Given the description of an element on the screen output the (x, y) to click on. 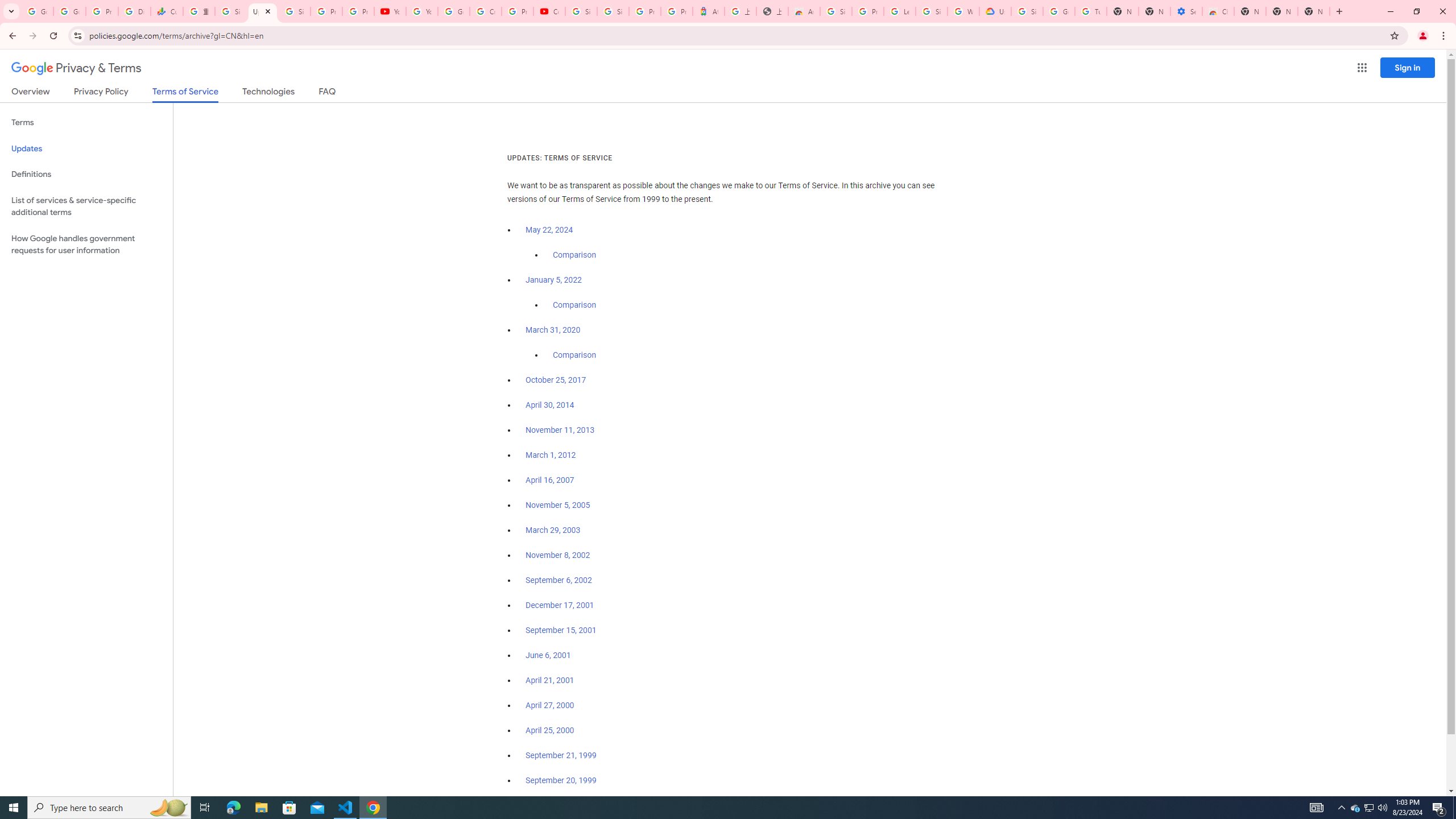
December 17, 2001 (559, 605)
Atour Hotel - Google hotels (708, 11)
How Google handles government requests for user information (86, 244)
Sign in - Google Accounts (230, 11)
Create your Google Account (485, 11)
September 20, 1999 (560, 780)
Google Account Help (453, 11)
